Given the description of an element on the screen output the (x, y) to click on. 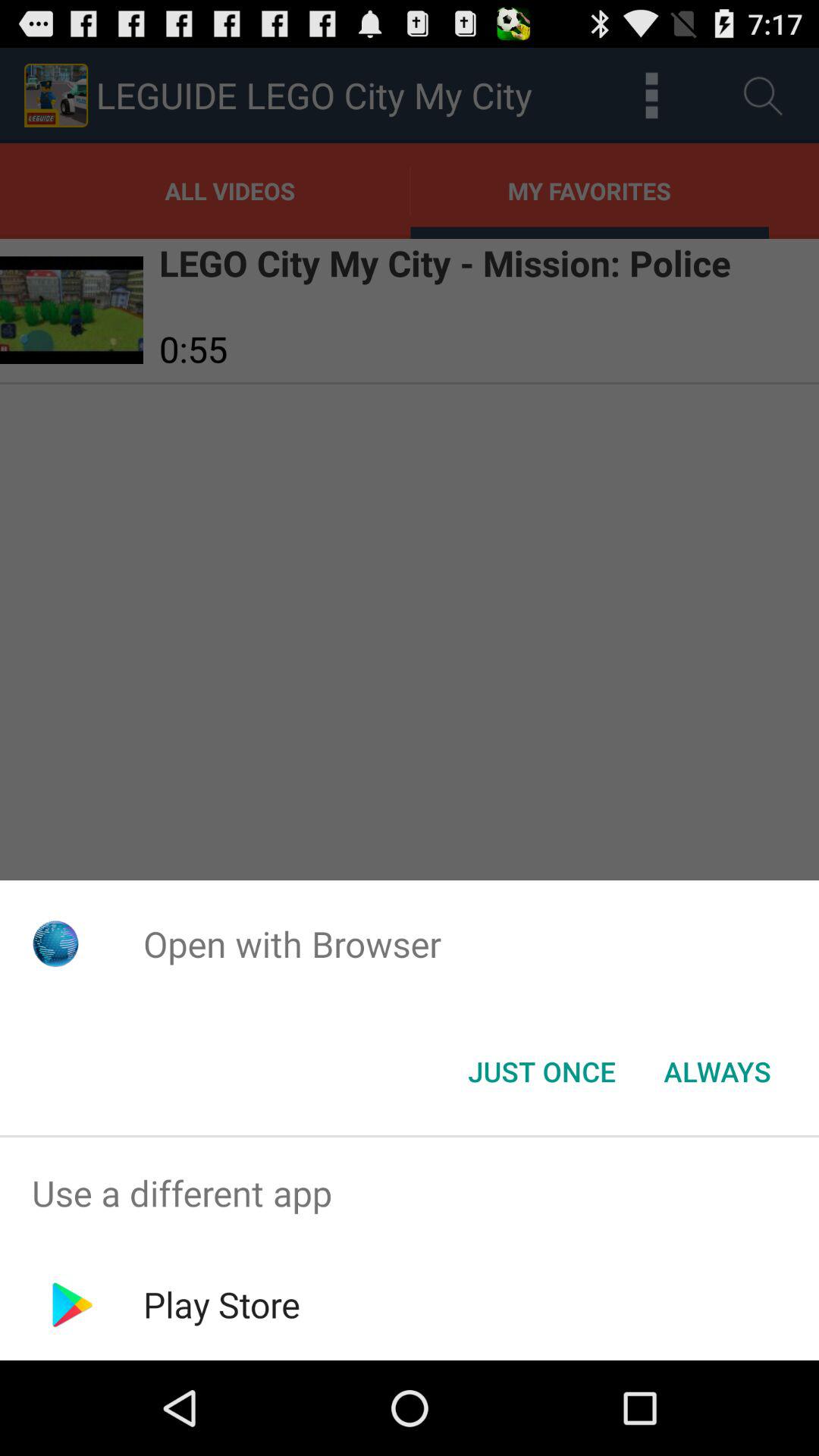
launch icon next to always icon (541, 1071)
